Given the description of an element on the screen output the (x, y) to click on. 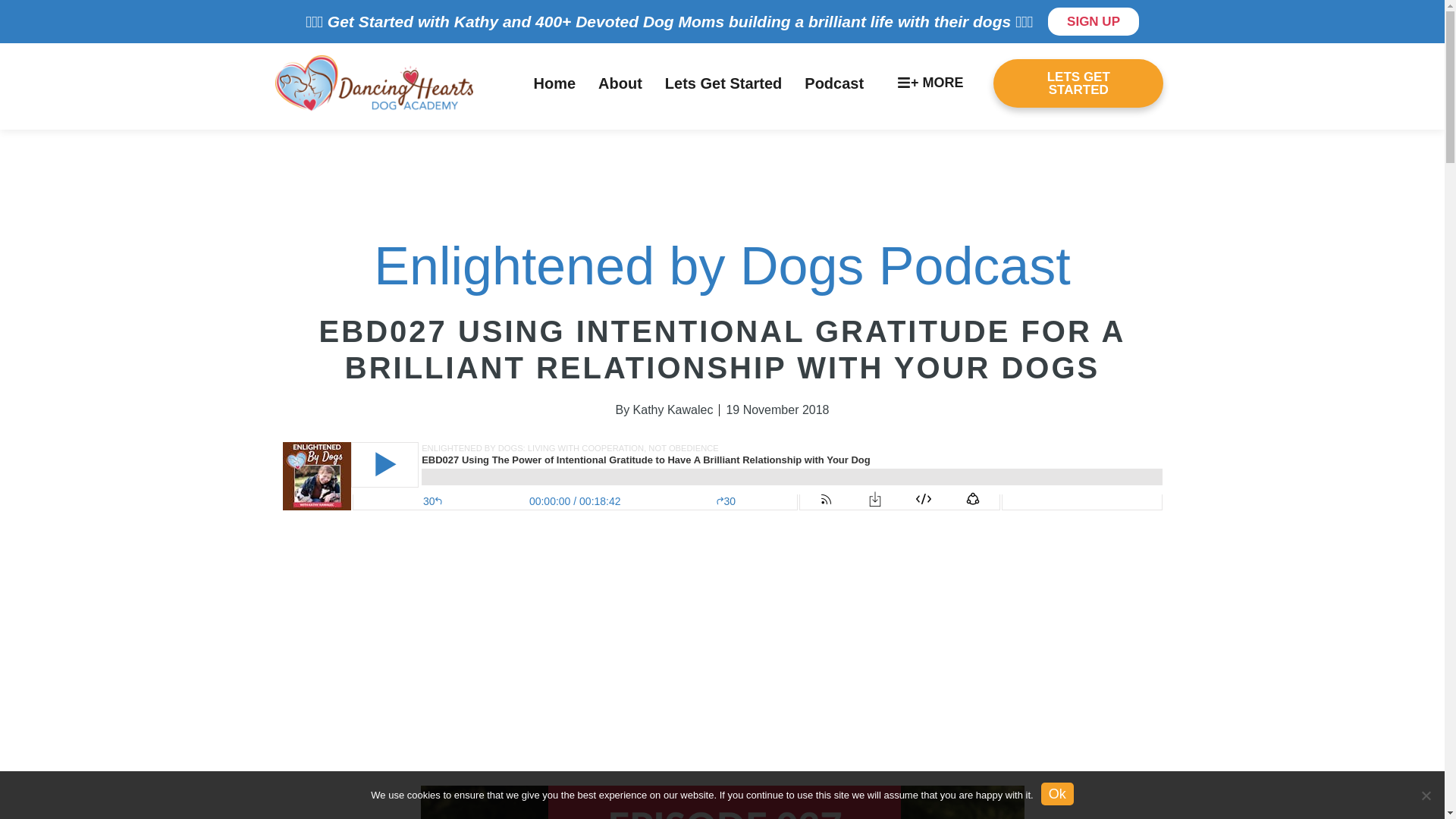
Home (553, 83)
About (620, 83)
Lets Get Started (723, 83)
LETS GET STARTED (1077, 82)
Podcast (834, 83)
SIGN UP (1093, 21)
No (1425, 794)
Embed Player (721, 515)
